Given the description of an element on the screen output the (x, y) to click on. 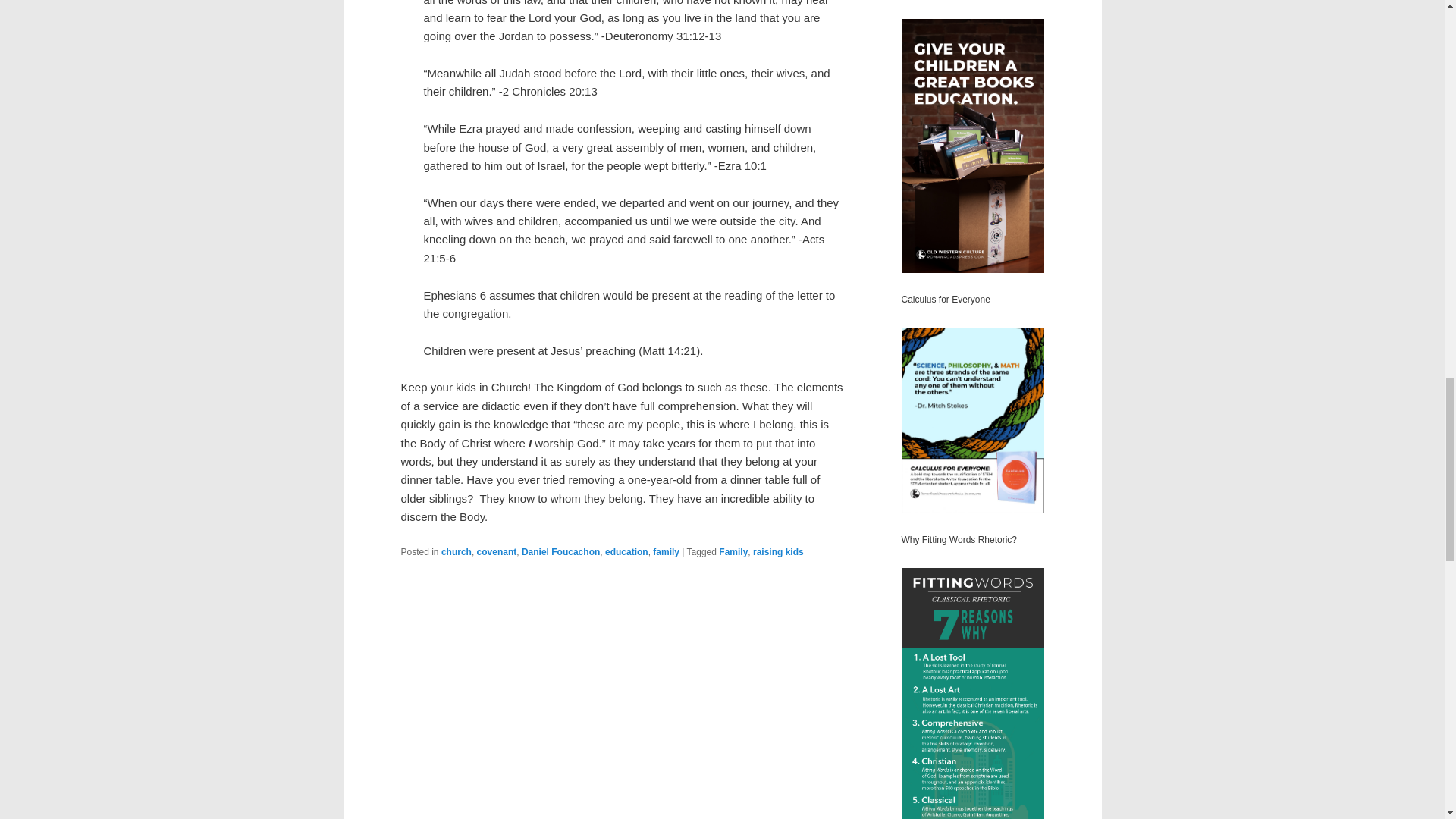
Daniel Foucachon (560, 552)
church (456, 552)
family (665, 552)
covenant (496, 552)
education (626, 552)
Family (733, 552)
raising kids (777, 552)
